Given the description of an element on the screen output the (x, y) to click on. 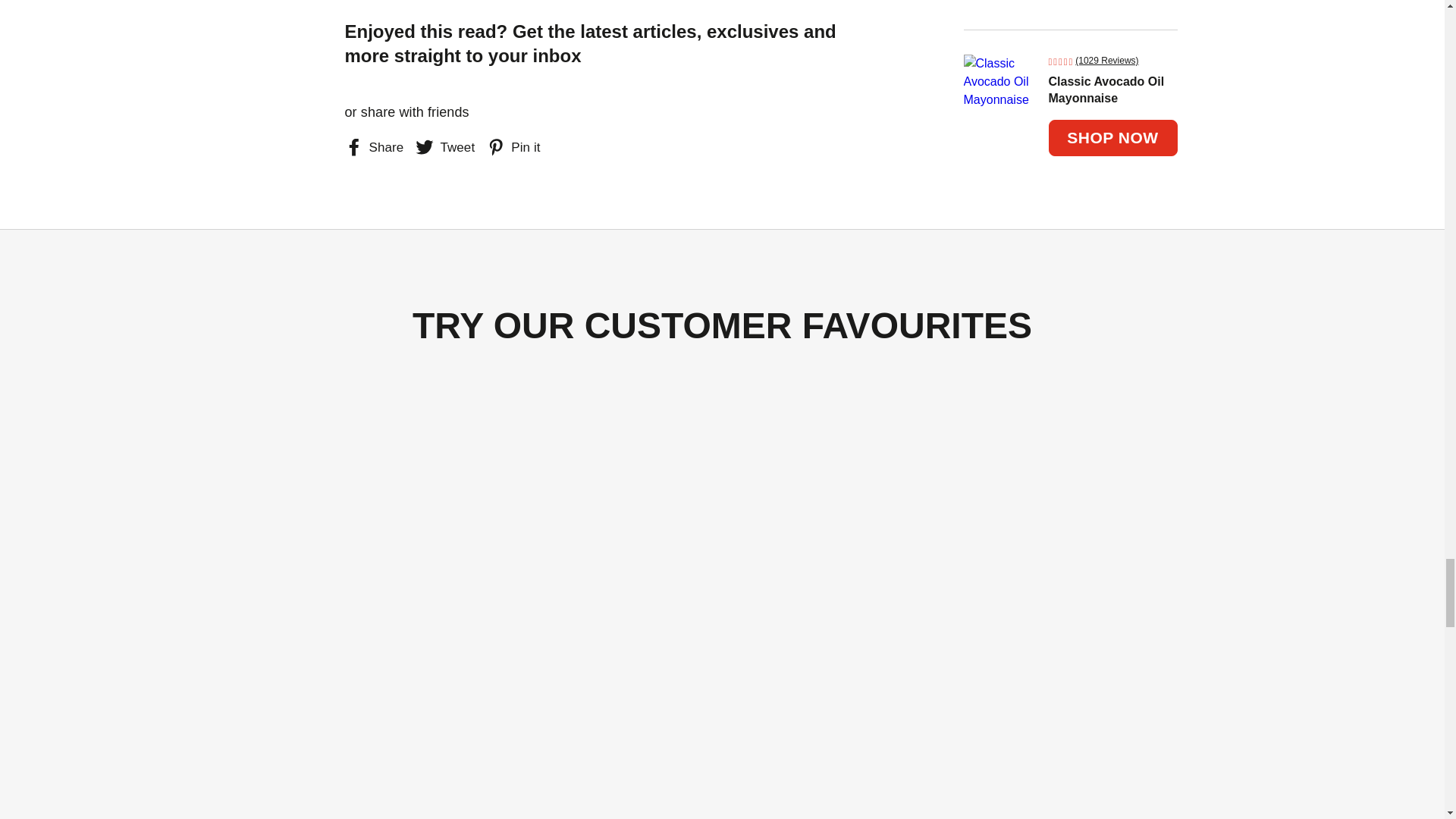
Tweet (444, 147)
Share on Facebook (373, 147)
Pin it (513, 147)
